Given the description of an element on the screen output the (x, y) to click on. 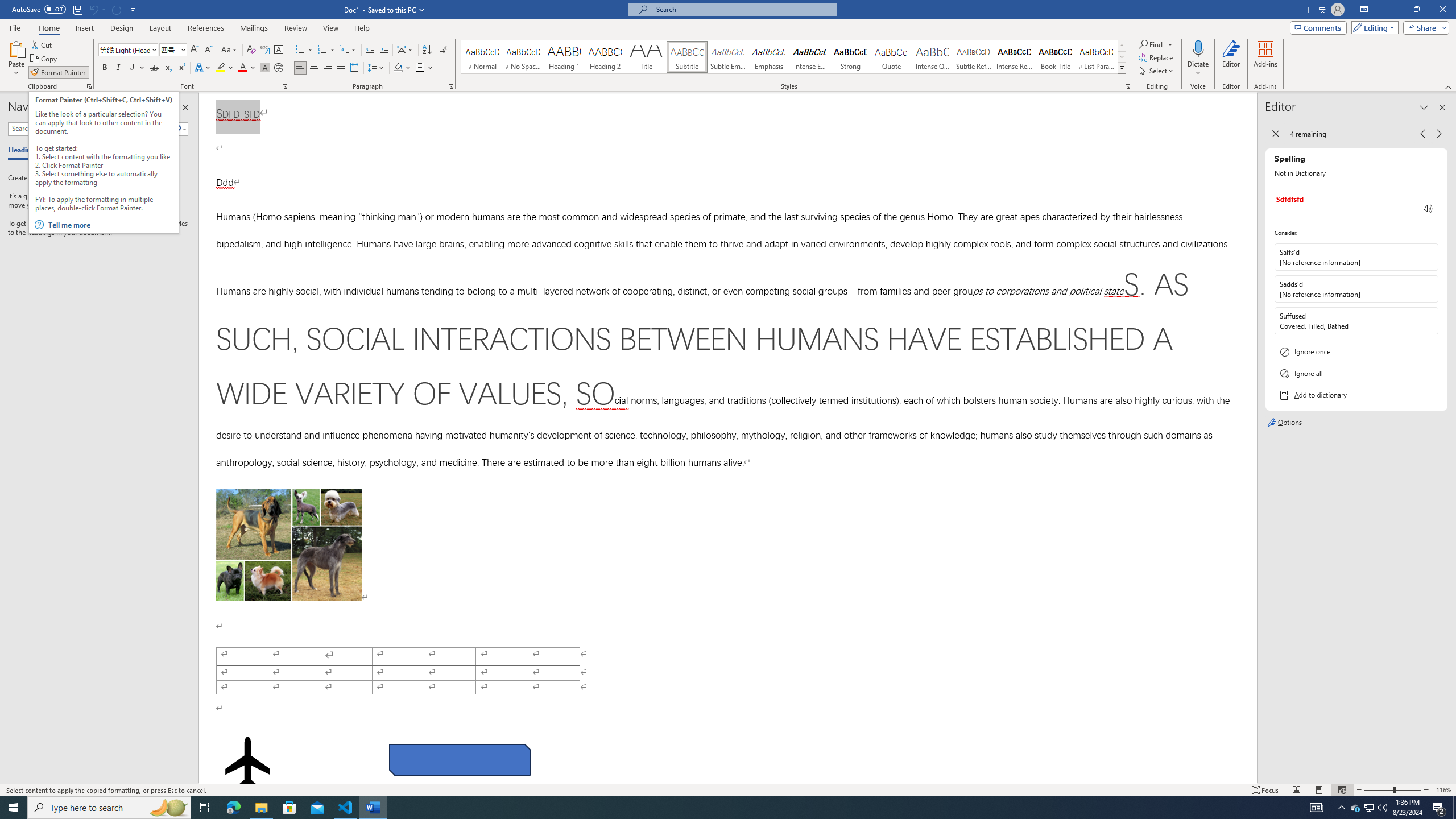
Decrease Indent (370, 49)
Paragraph... (450, 85)
Font Size (172, 49)
Subtle Reference (973, 56)
Morphological variation in six dogs (288, 544)
Grow Font (193, 49)
Collapse the Ribbon (1448, 86)
Can't Repeat (117, 9)
Class: MsoCommandBar (728, 789)
Justify (340, 67)
Paste (16, 58)
View (330, 28)
Help (361, 28)
Font Color (246, 67)
